Given the description of an element on the screen output the (x, y) to click on. 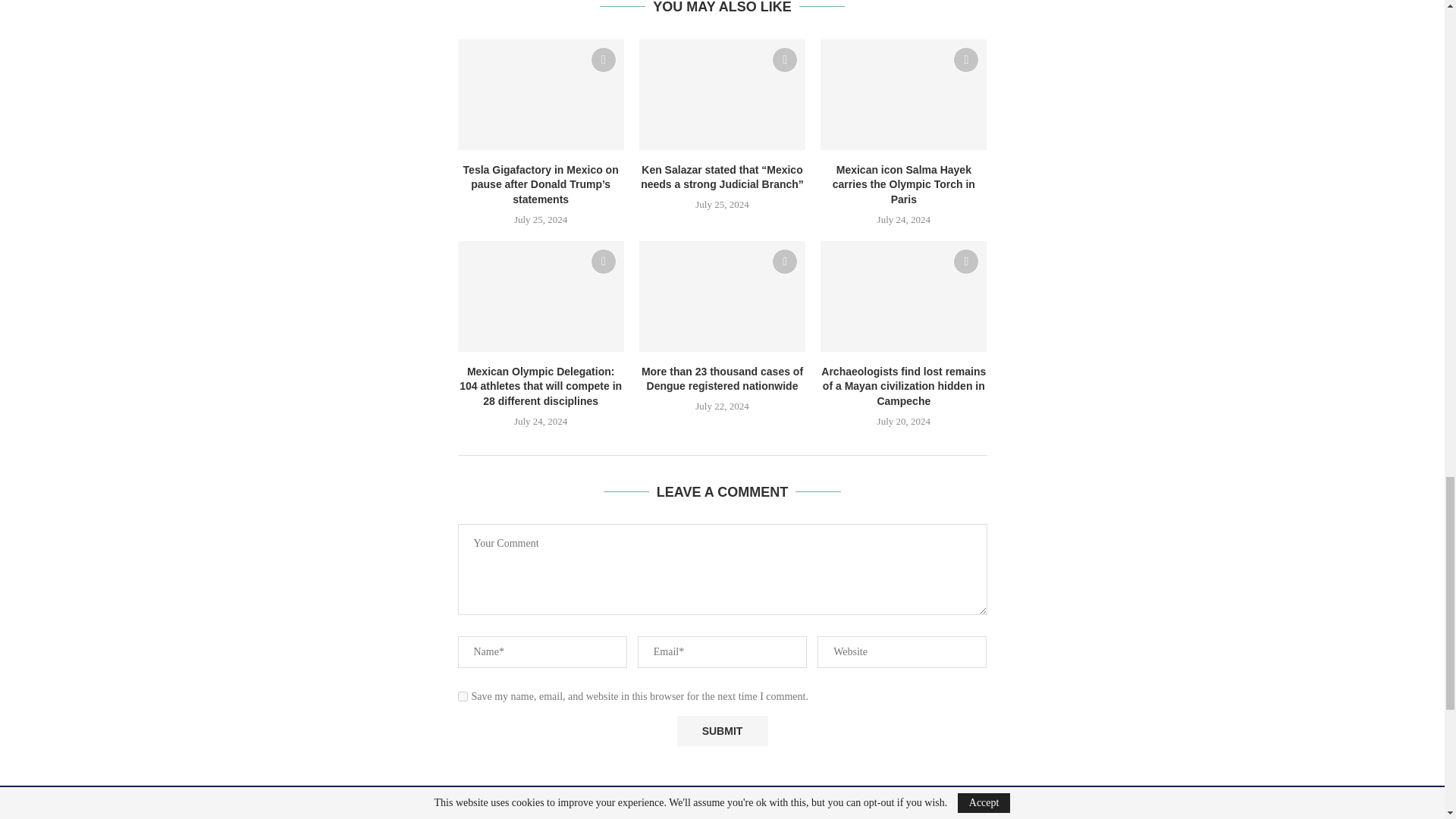
Submit (722, 730)
More than 23 thousand cases of Dengue registered nationwide (722, 296)
yes (462, 696)
Mexican icon Salma Hayek carries the Olympic Torch in Paris (904, 94)
